Given the description of an element on the screen output the (x, y) to click on. 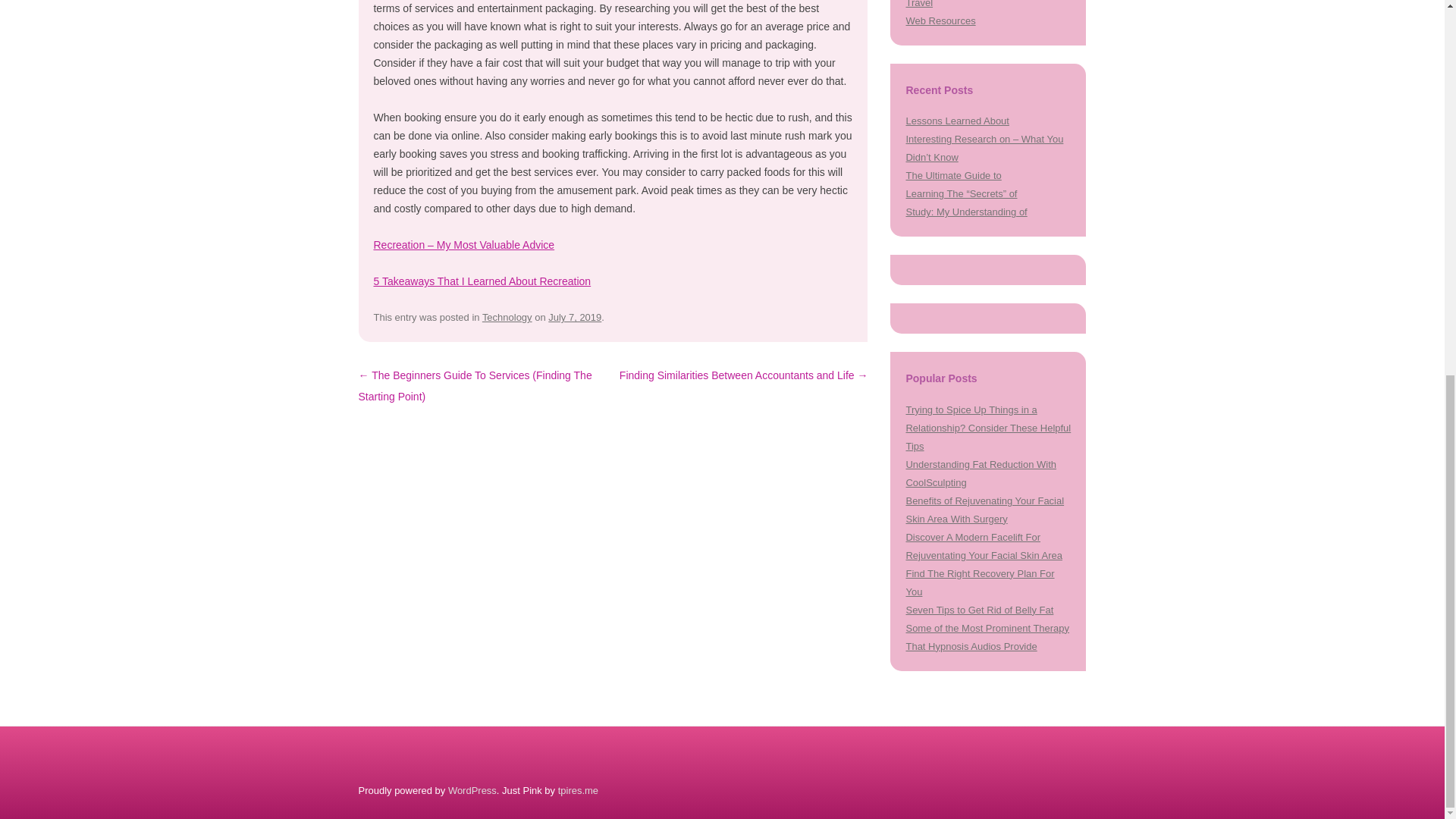
Lessons Learned About (957, 120)
5 Takeaways That I Learned About Recreation (481, 281)
Technology (506, 317)
Benefits of Rejuvenating Your Facial Skin Area With Surgery (984, 509)
Web Resources (940, 20)
Seven Tips to Get Rid of Belly Fat (978, 609)
Travel (919, 4)
Semantic Personal Publishing Platform (472, 790)
Find The Right Recovery Plan For You (979, 582)
Understanding Fat Reduction With CoolSculpting (980, 473)
The Ultimate Guide to (953, 174)
1:28 pm (574, 317)
